Given the description of an element on the screen output the (x, y) to click on. 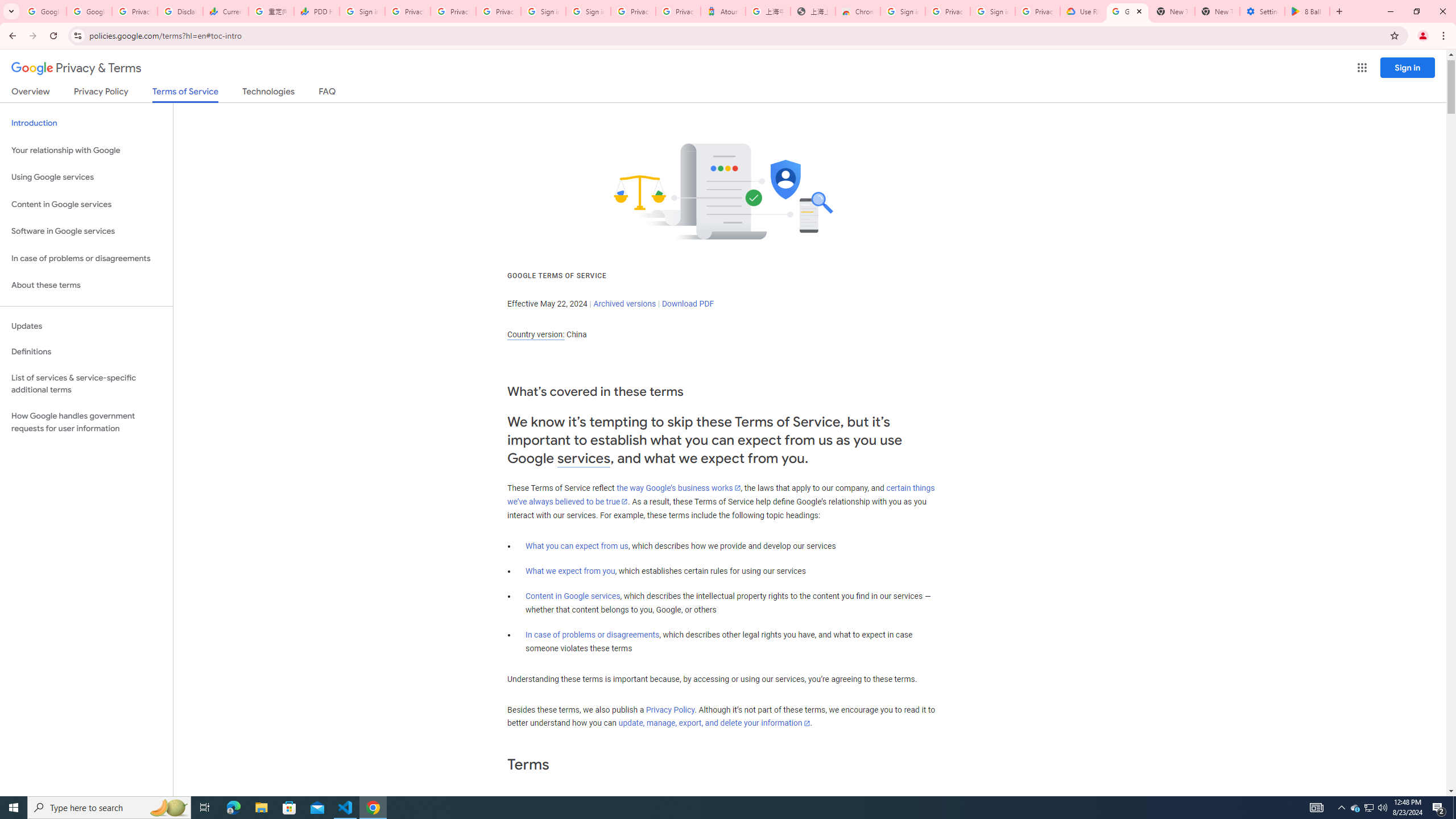
Archived versions (624, 303)
Content in Google services (572, 596)
Download PDF (687, 303)
Sign in - Google Accounts (587, 11)
Privacy Checkup (497, 11)
Sign in - Google Accounts (362, 11)
New Tab (1216, 11)
PDD Holdings Inc - ADR (PDD) Price & News - Google Finance (316, 11)
Software in Google services (86, 230)
